Given the description of an element on the screen output the (x, y) to click on. 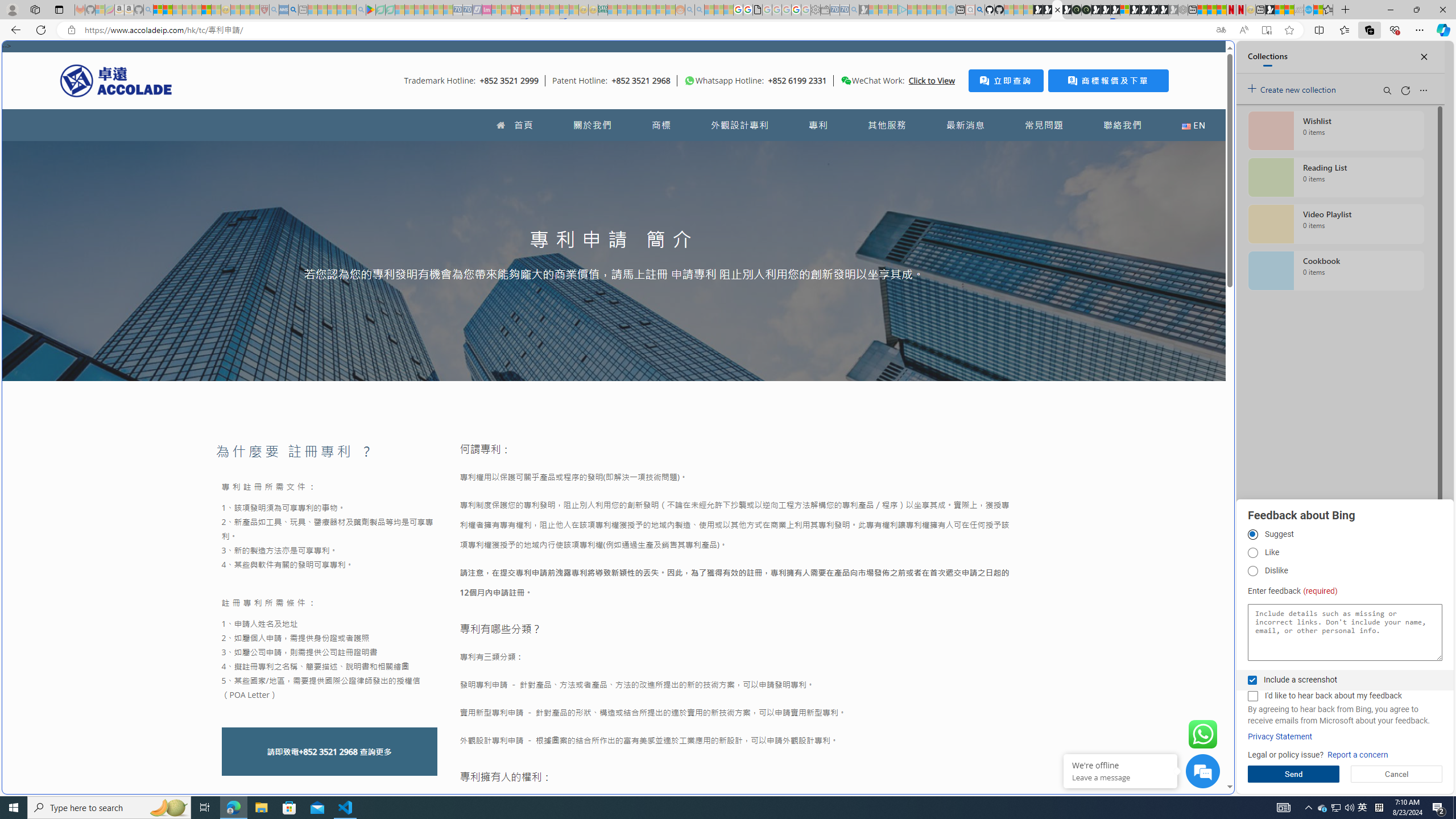
Future Focus Report 2024 (1085, 9)
Close split screen (1208, 57)
Accolade IP HK Logo (116, 80)
